Given the description of an element on the screen output the (x, y) to click on. 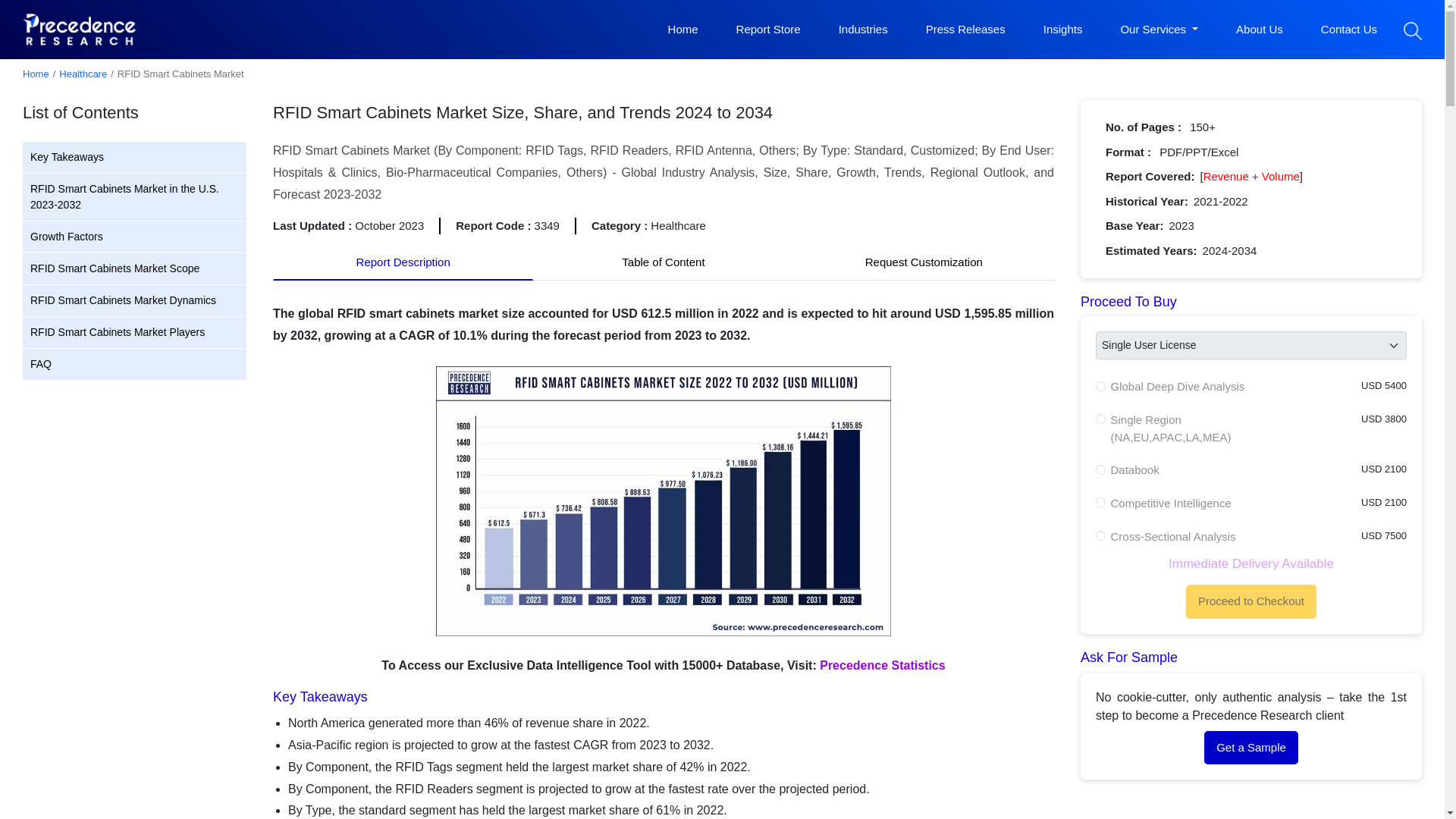
Our Services (1158, 29)
Home (683, 29)
Insights (1063, 29)
databook (1100, 470)
comp (1100, 501)
Report Store (768, 29)
Precedence Research (79, 29)
cross (1100, 535)
RFID Smart Cabinets Market Size 2023 To 2032 (663, 502)
Contact Us (1348, 29)
sine (1100, 386)
Press Releases (966, 29)
About Us (1259, 29)
multi (1100, 419)
Industries (863, 29)
